Given the description of an element on the screen output the (x, y) to click on. 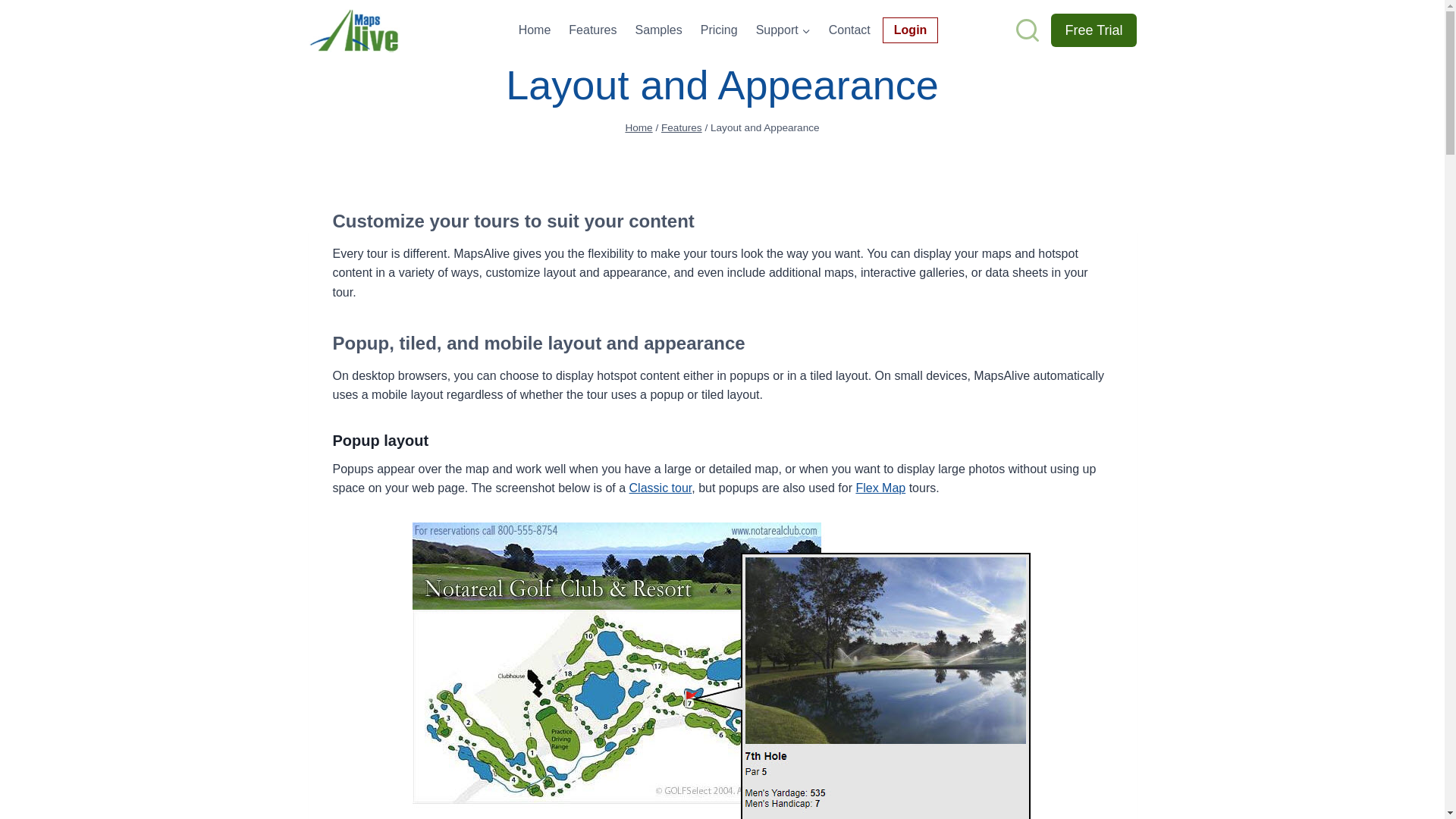
Classic tour (660, 487)
Contact (849, 30)
Features (681, 127)
Pricing (718, 30)
Home (638, 127)
Login (910, 30)
Support (782, 30)
Samples (658, 30)
Features (592, 30)
Free Trial (1093, 29)
Flex Map (880, 487)
Home (534, 30)
